Given the description of an element on the screen output the (x, y) to click on. 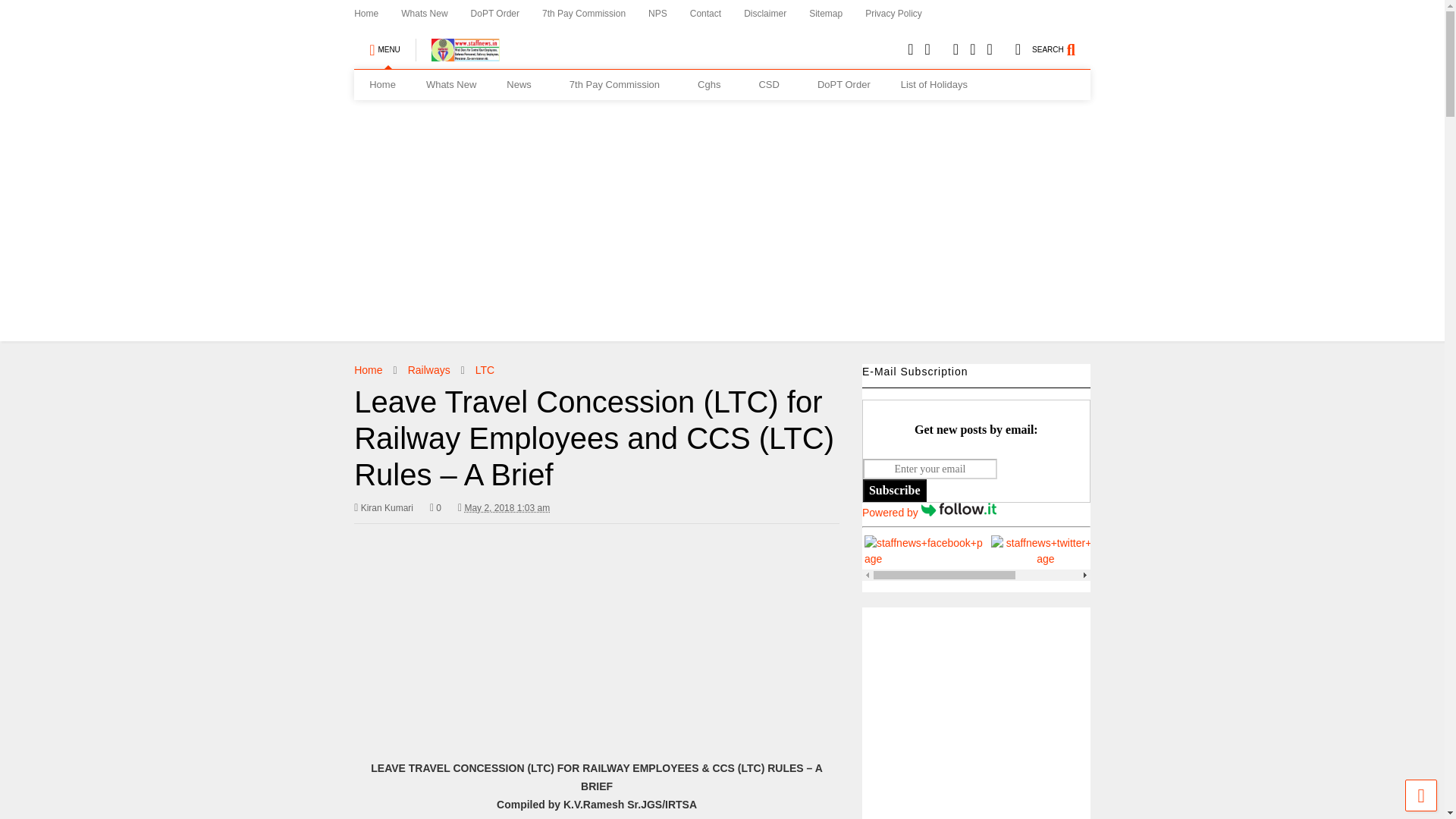
September 19, 2019 8:44 am (507, 507)
Instagram (989, 49)
Disclaimer (776, 13)
Sitemap (836, 13)
Facebook (1017, 49)
Home (377, 13)
Privacy Policy (904, 13)
7th Pay Commission (618, 84)
Home (381, 84)
SEARCH (1061, 42)
DoPT Order (505, 13)
Kiran Kumari (383, 507)
Cghs (712, 84)
News (523, 84)
